Given the description of an element on the screen output the (x, y) to click on. 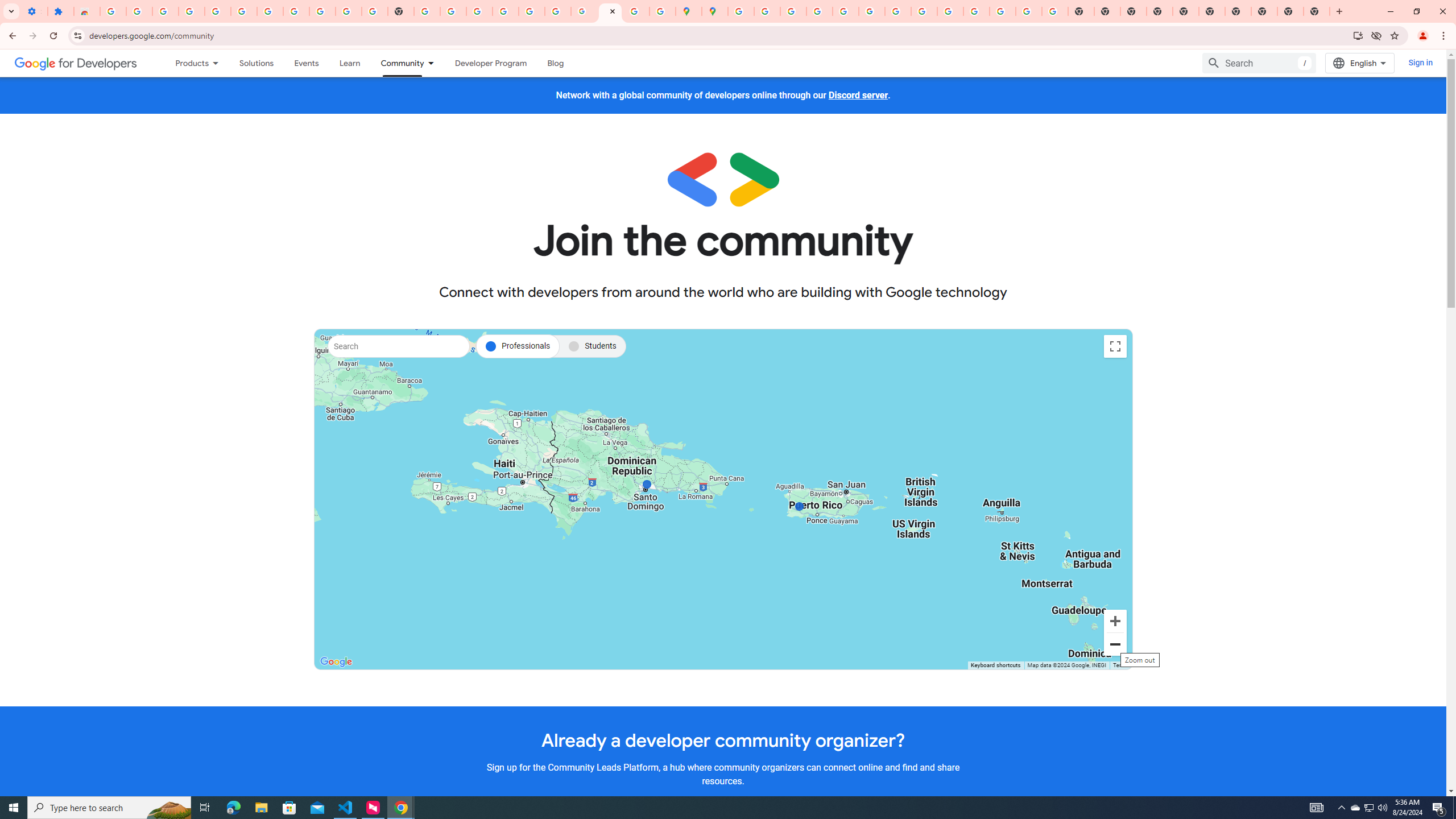
Learn how to find your photos - Google Photos Help (217, 11)
New Tab (1316, 11)
YouTube (348, 11)
